Given the description of an element on the screen output the (x, y) to click on. 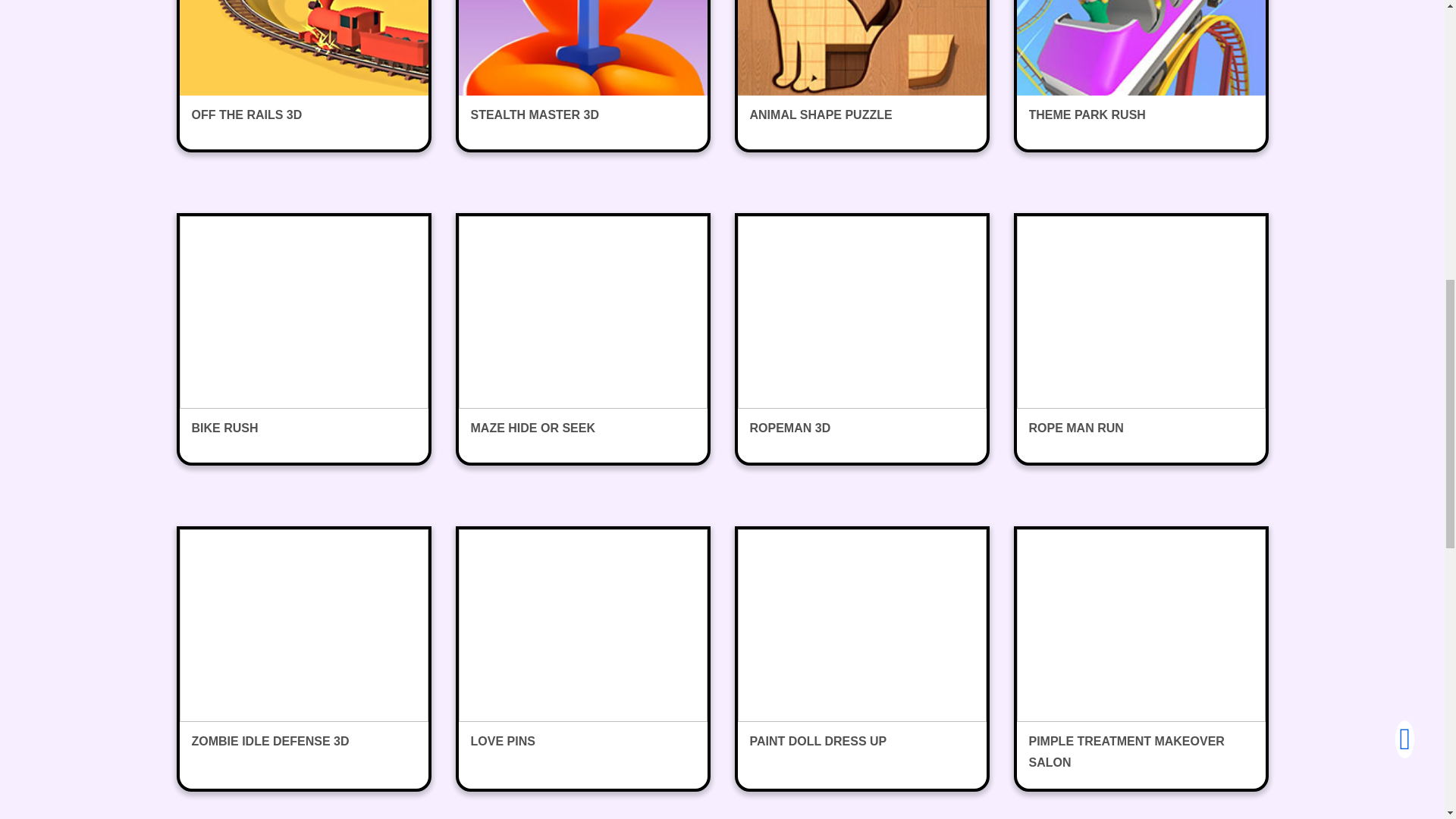
STEALTH MASTER 3D (582, 74)
ROPEMAN 3D (860, 339)
ROPE MAN RUN (1140, 339)
MAZE HIDE OR SEEK (582, 339)
PIMPLE TREATMENT MAKEOVER SALON (1140, 658)
THEME PARK RUSH (1140, 74)
ANIMAL SHAPE PUZZLE (860, 74)
LOVE PINS (582, 652)
PAINT DOLL DRESS UP (860, 652)
BIKE RUSH (303, 339)
ZOMBIE IDLE DEFENSE 3D (303, 652)
OFF THE RAILS 3D (303, 74)
